Given the description of an element on the screen output the (x, y) to click on. 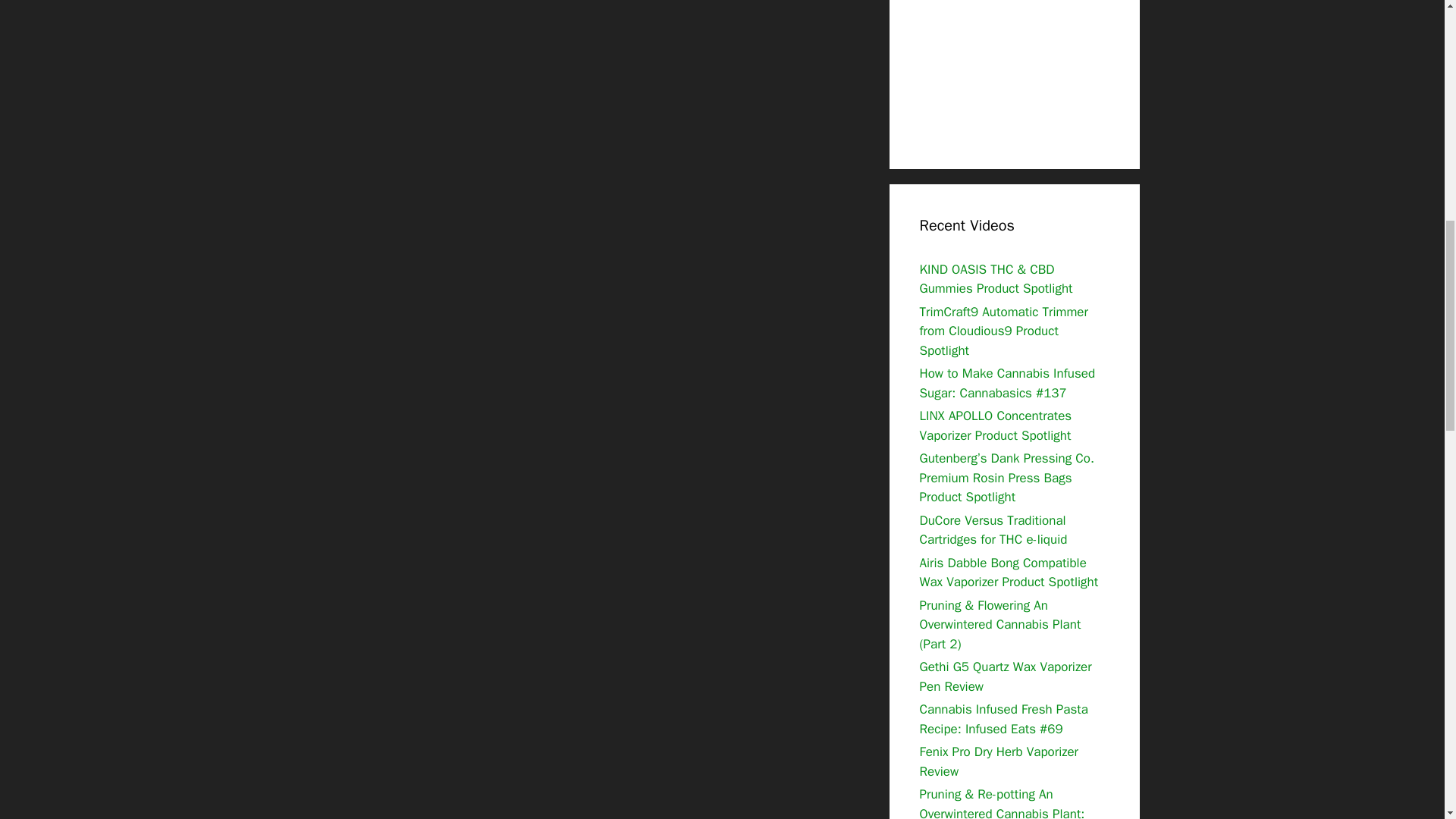
Gethi G5 Quartz Wax Vaporizer Pen Review (1004, 676)
Fenix Pro Dry Herb Vaporizer Review (997, 761)
LINX APOLLO Concentrates Vaporizer Product Spotlight (994, 425)
Airis Dabble Bong Compatible Wax Vaporizer Product Spotlight (1007, 572)
DuCore Versus Traditional Cartridges for THC e-liquid (992, 529)
